Given the description of an element on the screen output the (x, y) to click on. 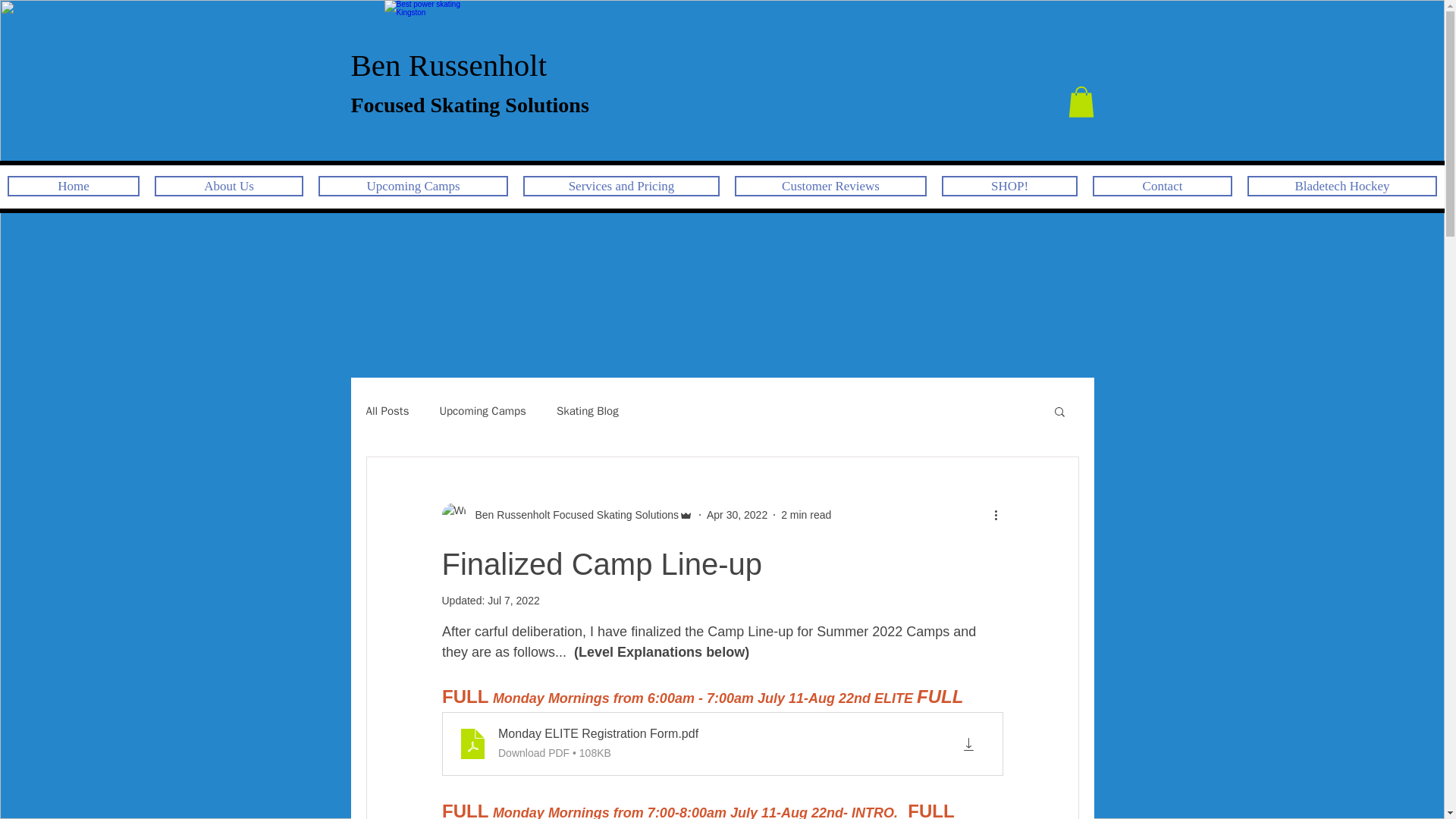
Ben Russenholt Focused Skating Solutions (571, 514)
Upcoming Camps (413, 186)
Services and Pricing (620, 186)
Home (73, 186)
Ben Russenholt Focused Skating Solutions (567, 514)
Customer Reviews (830, 186)
Bladetech Hockey (1342, 186)
All Posts (387, 410)
Jul 7, 2022 (513, 600)
Upcoming Camps (482, 410)
